Given the description of an element on the screen output the (x, y) to click on. 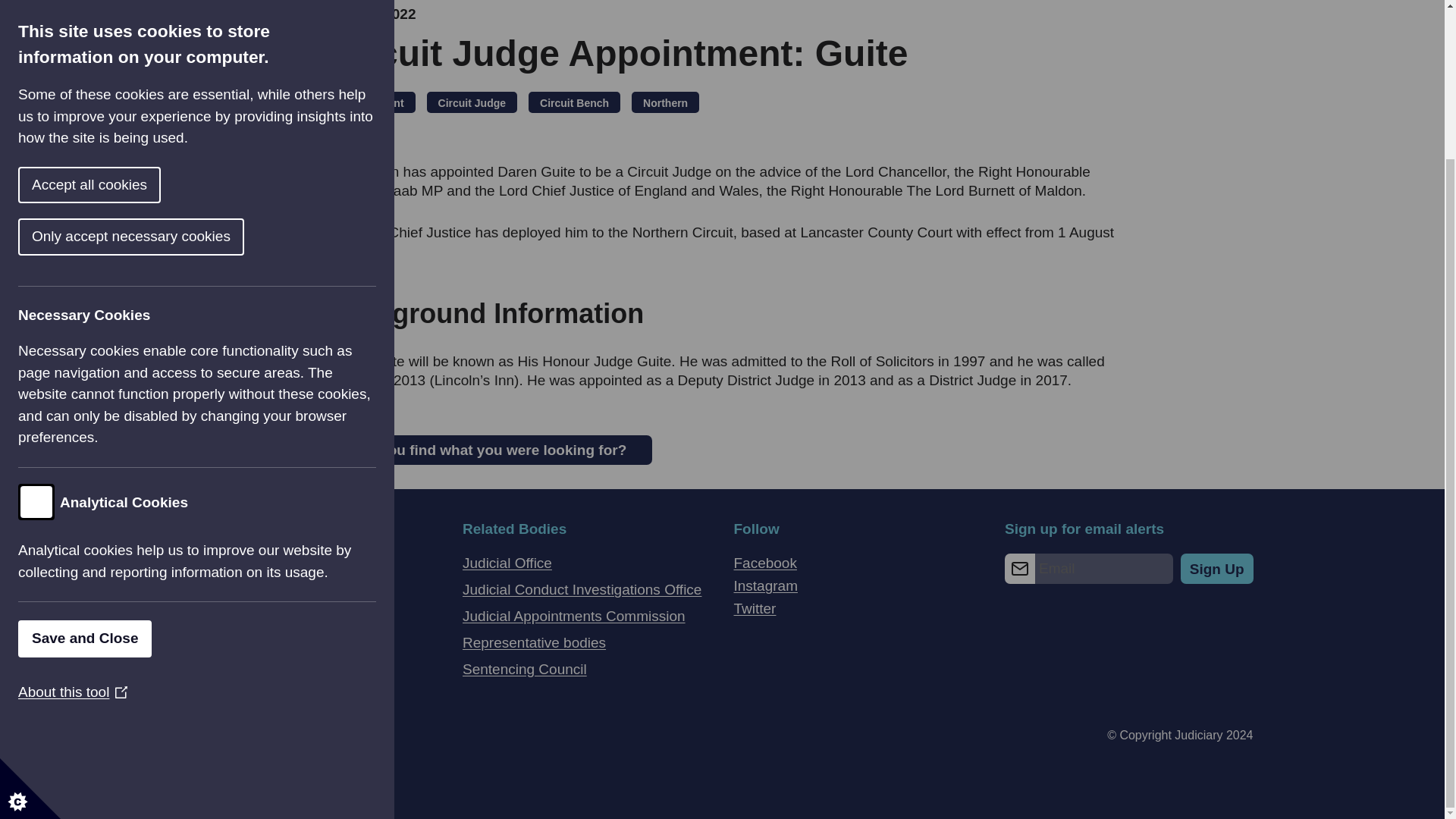
Sign Up (1216, 568)
